Given the description of an element on the screen output the (x, y) to click on. 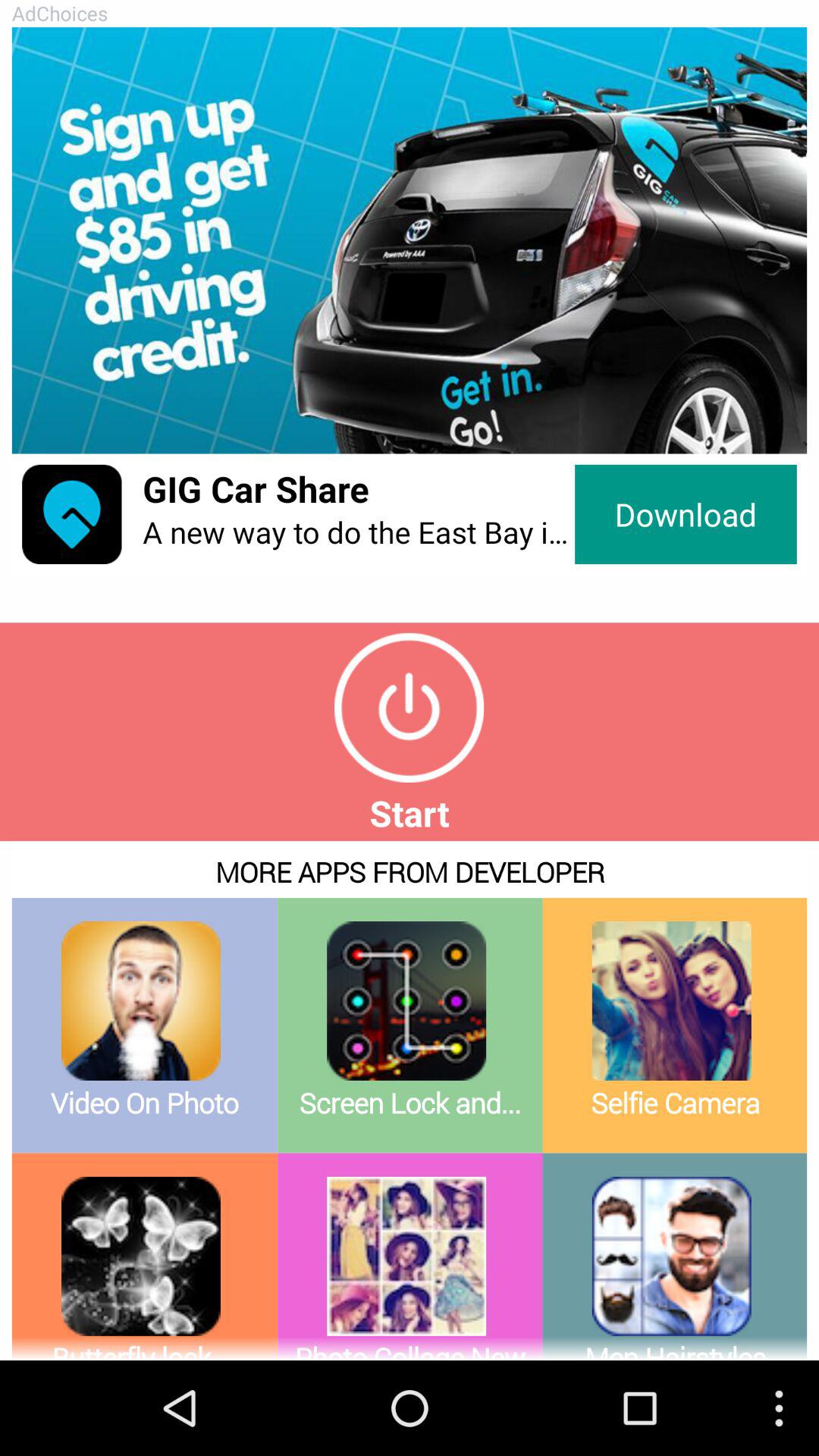
press start (409, 707)
